Given the description of an element on the screen output the (x, y) to click on. 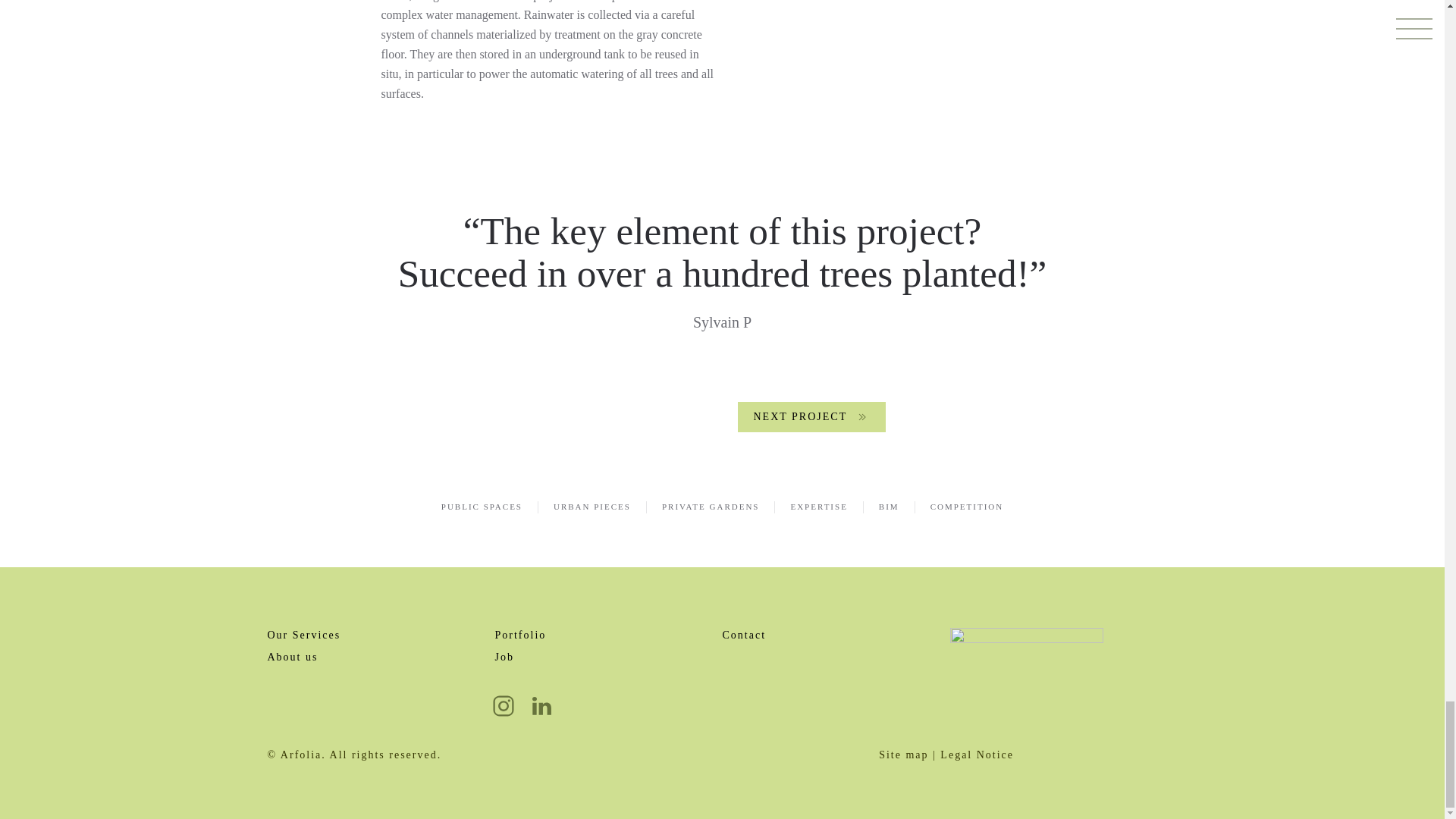
EXPERTISE (818, 507)
Legal Notice (976, 754)
About us (291, 656)
Site map (903, 754)
Portfolio (520, 634)
PRIVATE GARDENS (711, 507)
PUBLIC SPACES (481, 507)
Our Services (303, 634)
COMPETITION (967, 507)
BIM (889, 507)
Contact (743, 634)
Job (608, 657)
NEXT PROJECT (810, 417)
URBAN PIECES (591, 507)
